Given the description of an element on the screen output the (x, y) to click on. 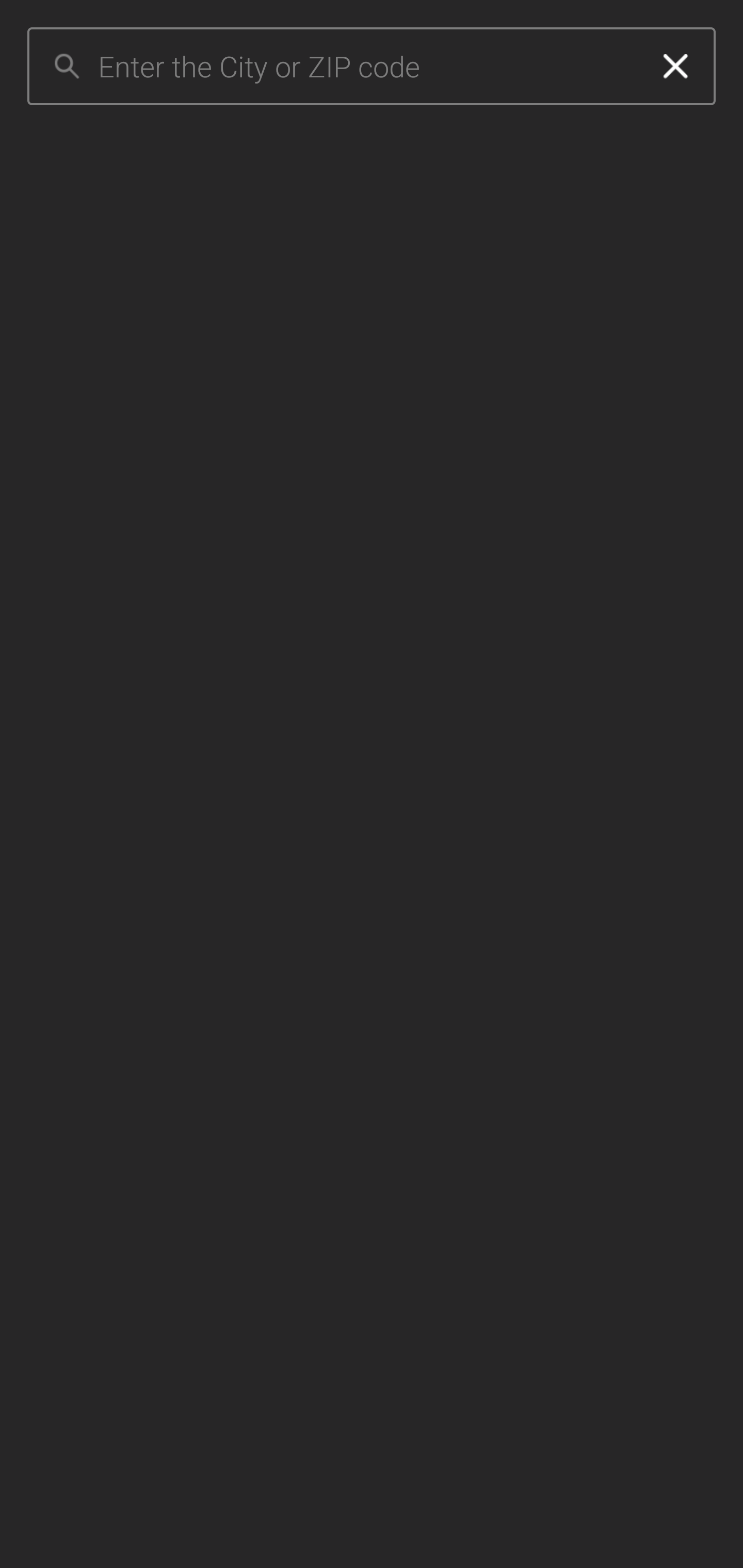
Enter the City or ZIP code (367, 66)
